Given the description of an element on the screen output the (x, y) to click on. 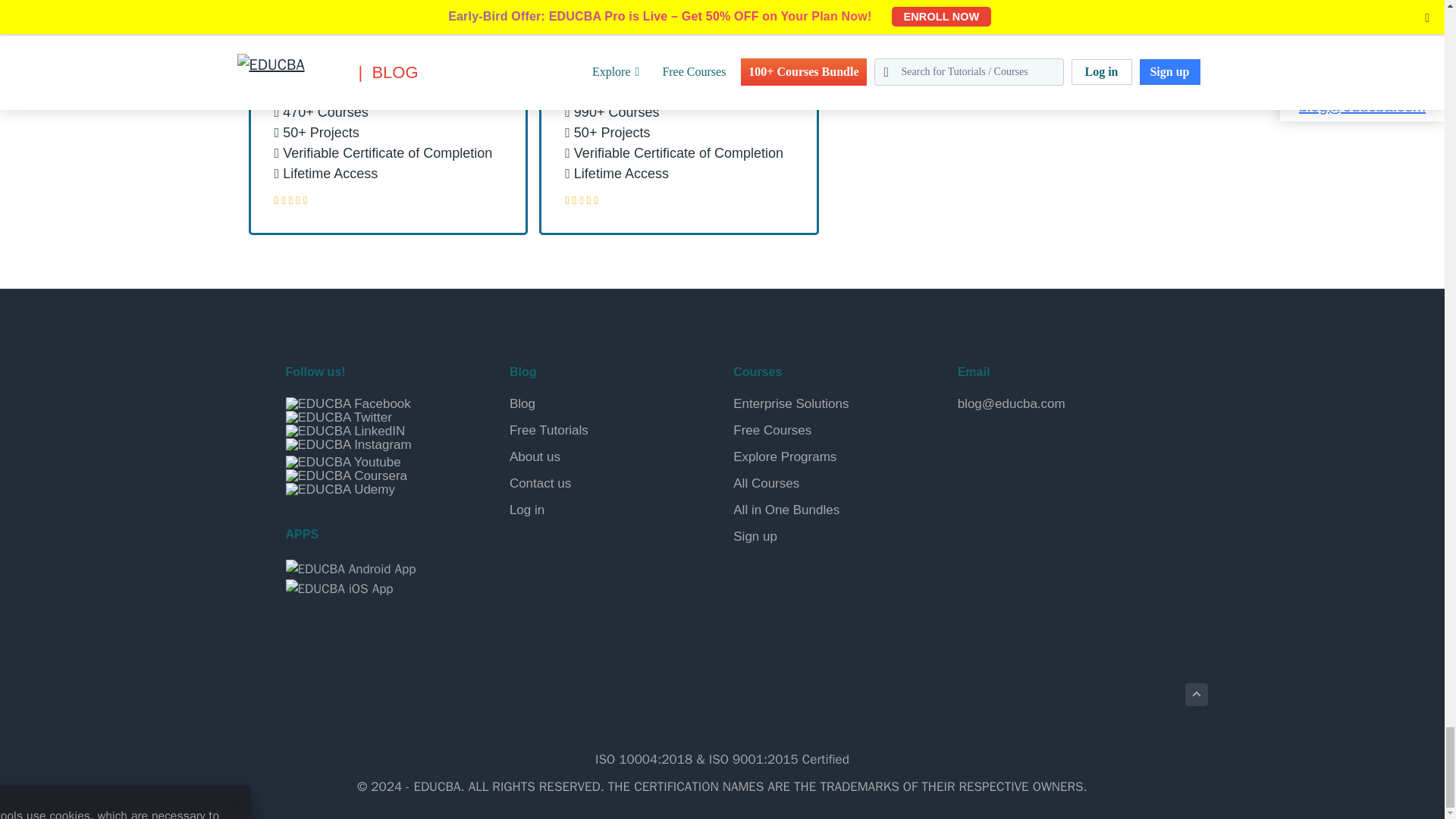
EDUCBA Android App (349, 569)
EDUCBA Youtube (342, 462)
EDUCBA Instagram (347, 445)
EDUCBA Twitter (338, 418)
EDUCBA Facebook (347, 404)
EDUCBA Coursera (346, 476)
EDUCBA LinkedIN (344, 431)
EDUCBA iOS App (339, 588)
EDUCBA Udemy (339, 489)
